Given the description of an element on the screen output the (x, y) to click on. 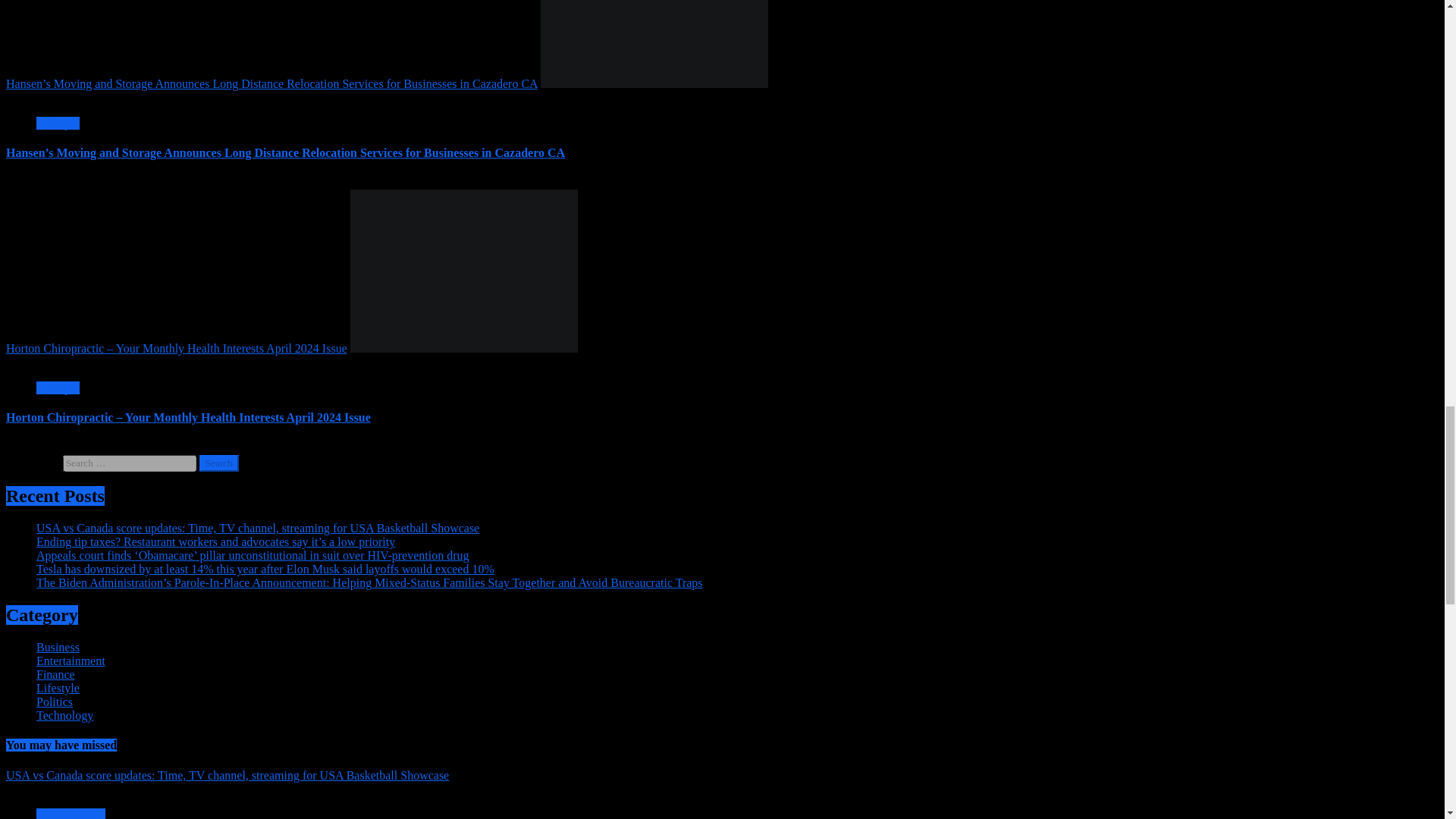
Search (218, 463)
Entertainment (70, 660)
Lifestyle (58, 387)
Finance (55, 674)
Lifestyle (58, 123)
Business (58, 646)
Search (218, 463)
Lifestyle (58, 687)
Politics (54, 701)
Search (218, 463)
